Given the description of an element on the screen output the (x, y) to click on. 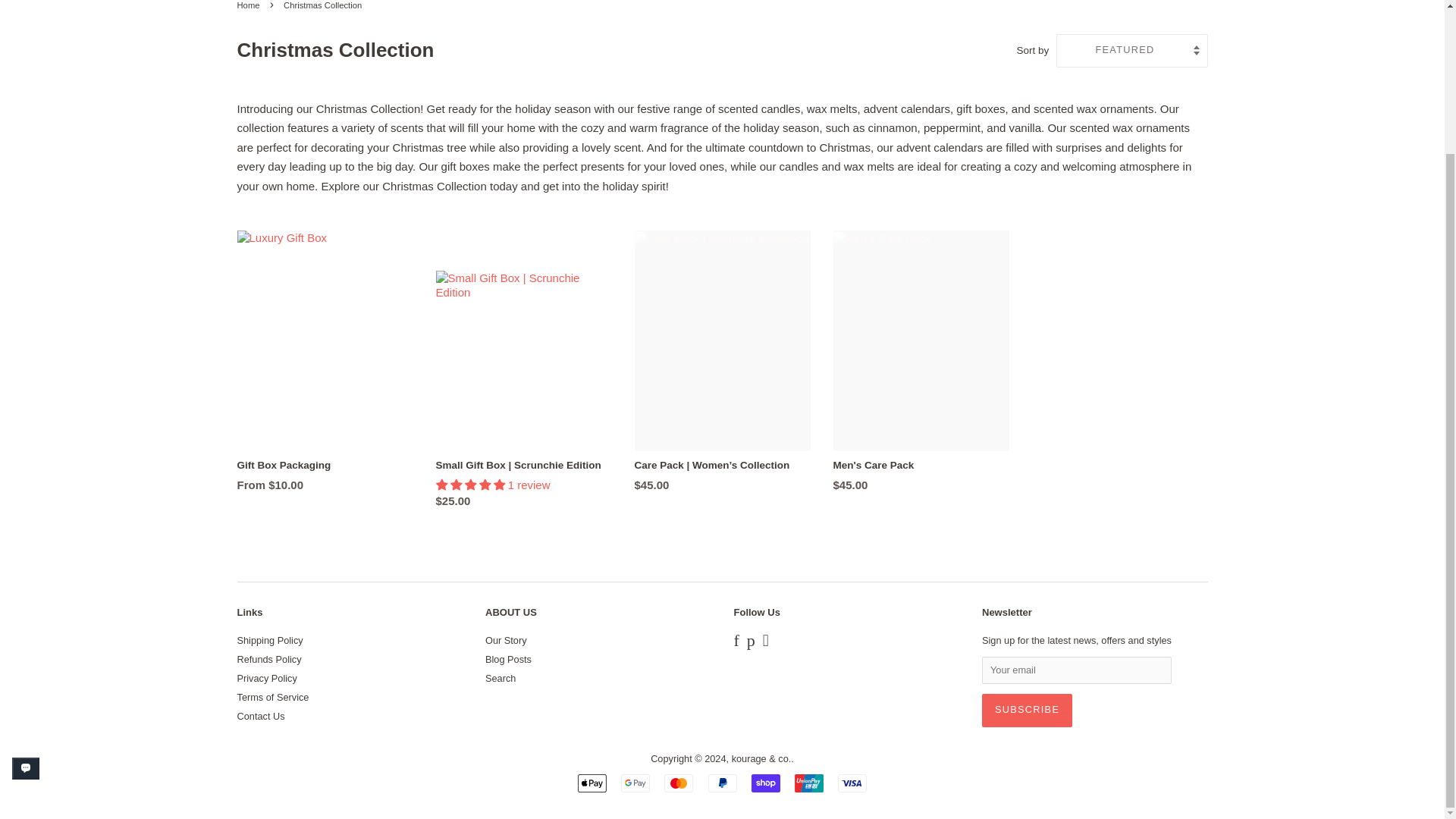
Google Pay (635, 782)
Apple Pay (592, 782)
Subscribe (1026, 710)
Mastercard (678, 782)
Back to the frontpage (249, 4)
Shop Pay (765, 782)
PayPal (721, 782)
Visa (852, 782)
Union Pay (809, 782)
